Given the description of an element on the screen output the (x, y) to click on. 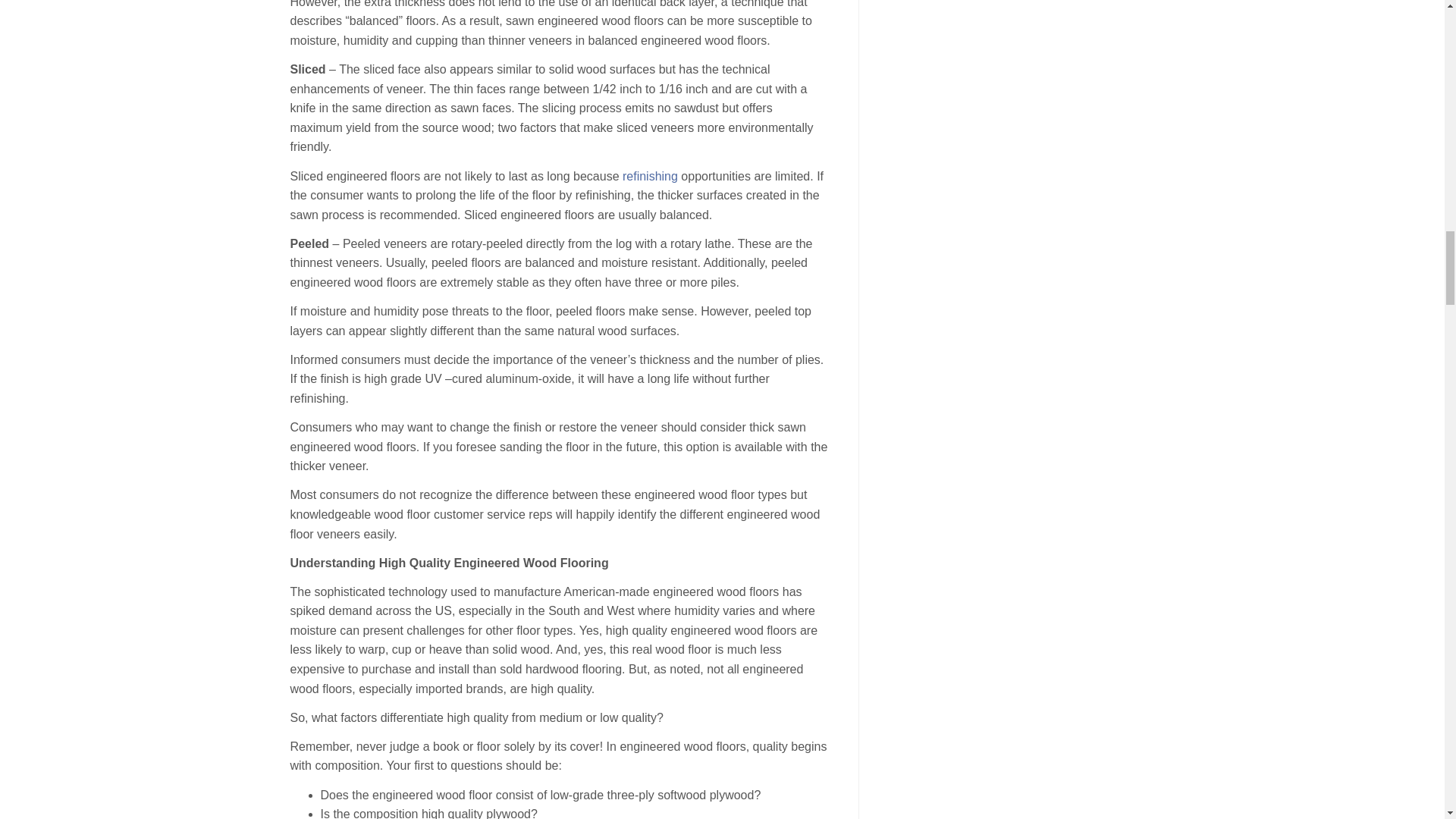
refinishing (650, 175)
